Given the description of an element on the screen output the (x, y) to click on. 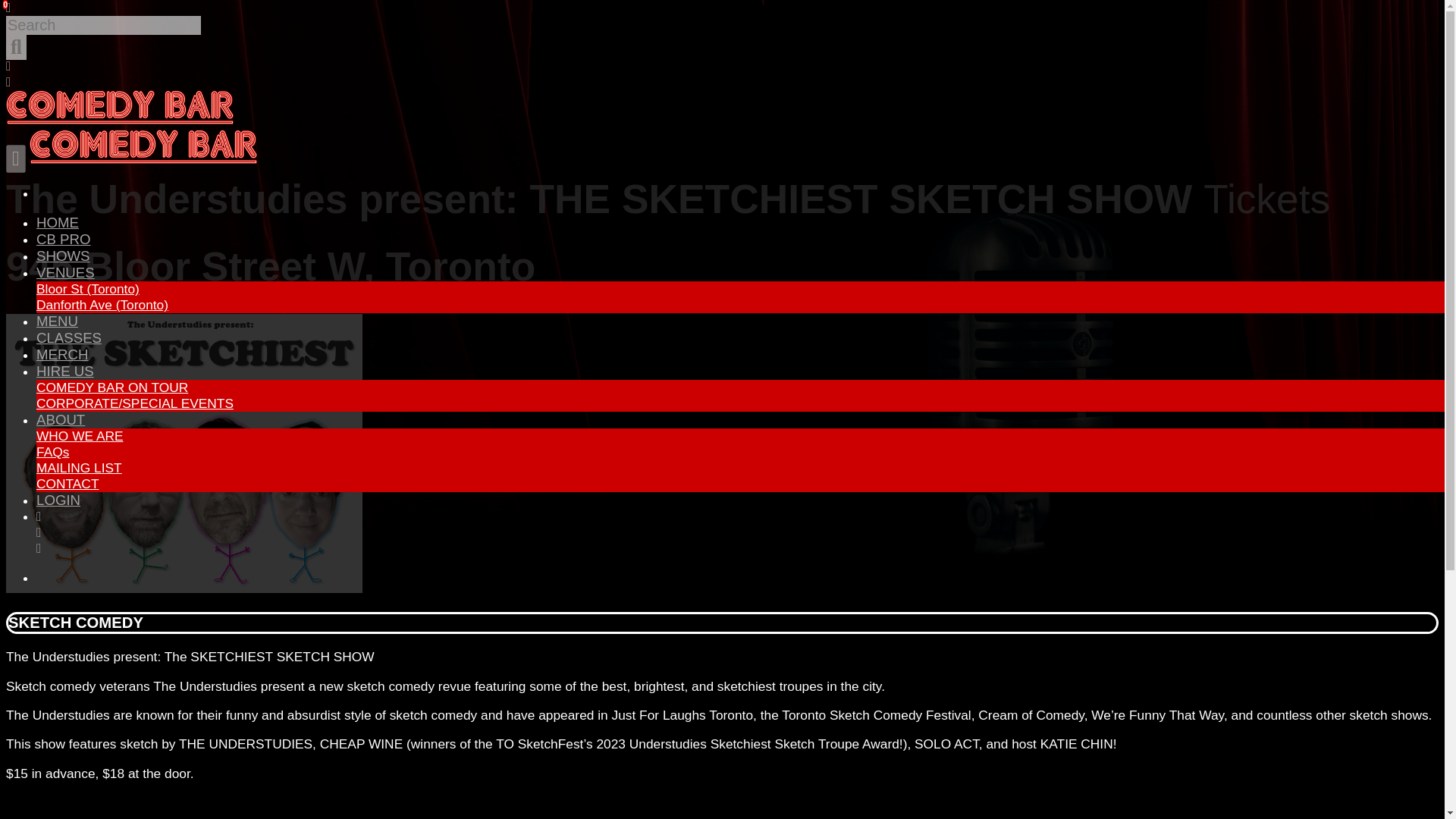
HOME (57, 222)
HIRE US (65, 371)
CONTACT (67, 483)
VENUES (65, 272)
CB PRO (63, 238)
LOGIN (58, 499)
WHO WE ARE (79, 435)
MENU (57, 320)
ABOUT (60, 419)
SHOWS (62, 255)
CLASSES (68, 337)
MERCH (61, 354)
MAILING LIST (79, 467)
FAQs (52, 451)
COMEDY BAR ON TOUR (111, 387)
